Given the description of an element on the screen output the (x, y) to click on. 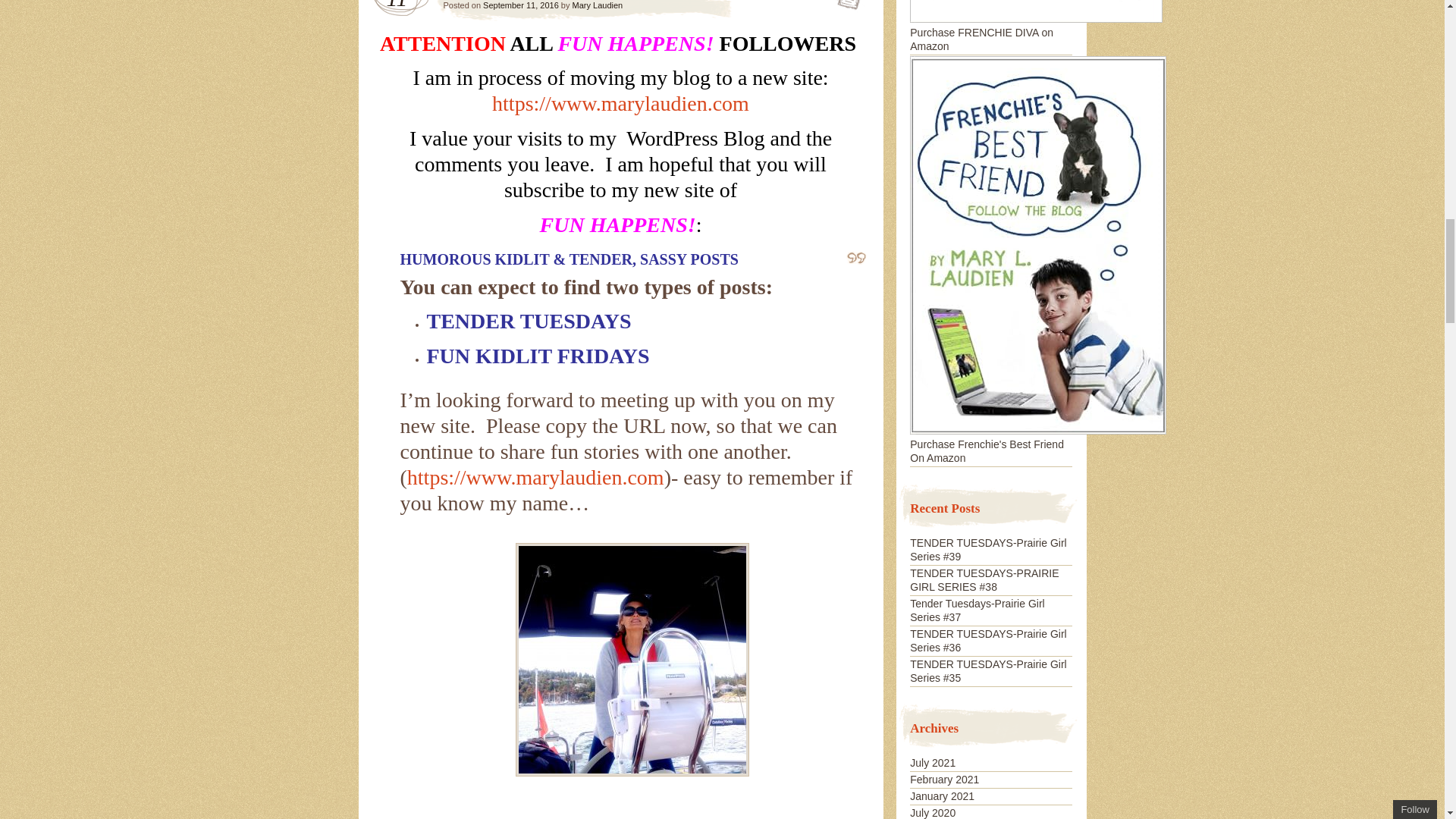
3:00 pm (521, 4)
View all posts by Mary Laudien (597, 4)
